Given the description of an element on the screen output the (x, y) to click on. 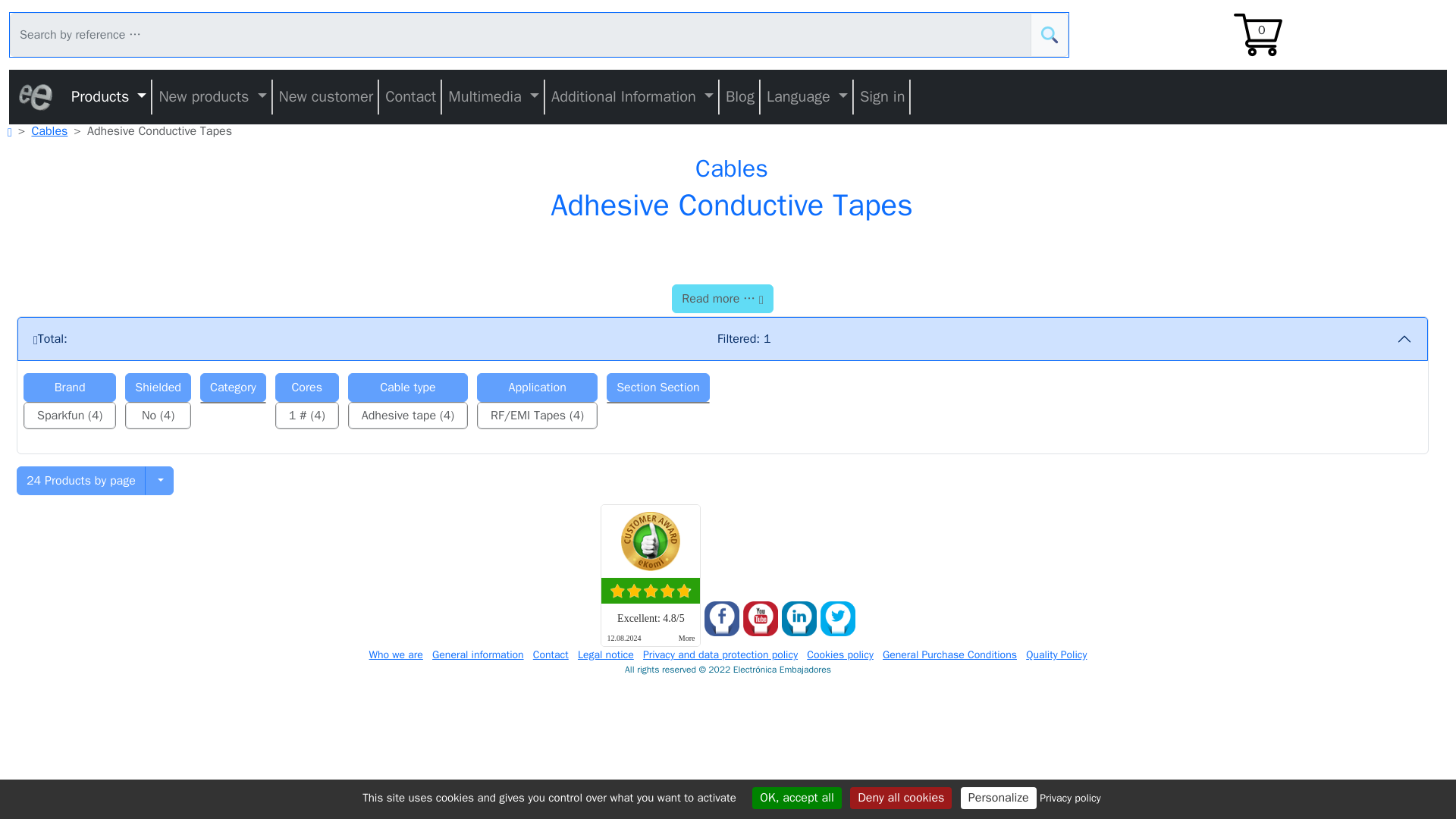
Products (108, 96)
Search Engine (1049, 34)
facebook (721, 618)
twitter (838, 618)
linkedin (798, 618)
youtube (759, 618)
0 (1257, 33)
eKomi gold seal Award (650, 540)
